Given the description of an element on the screen output the (x, y) to click on. 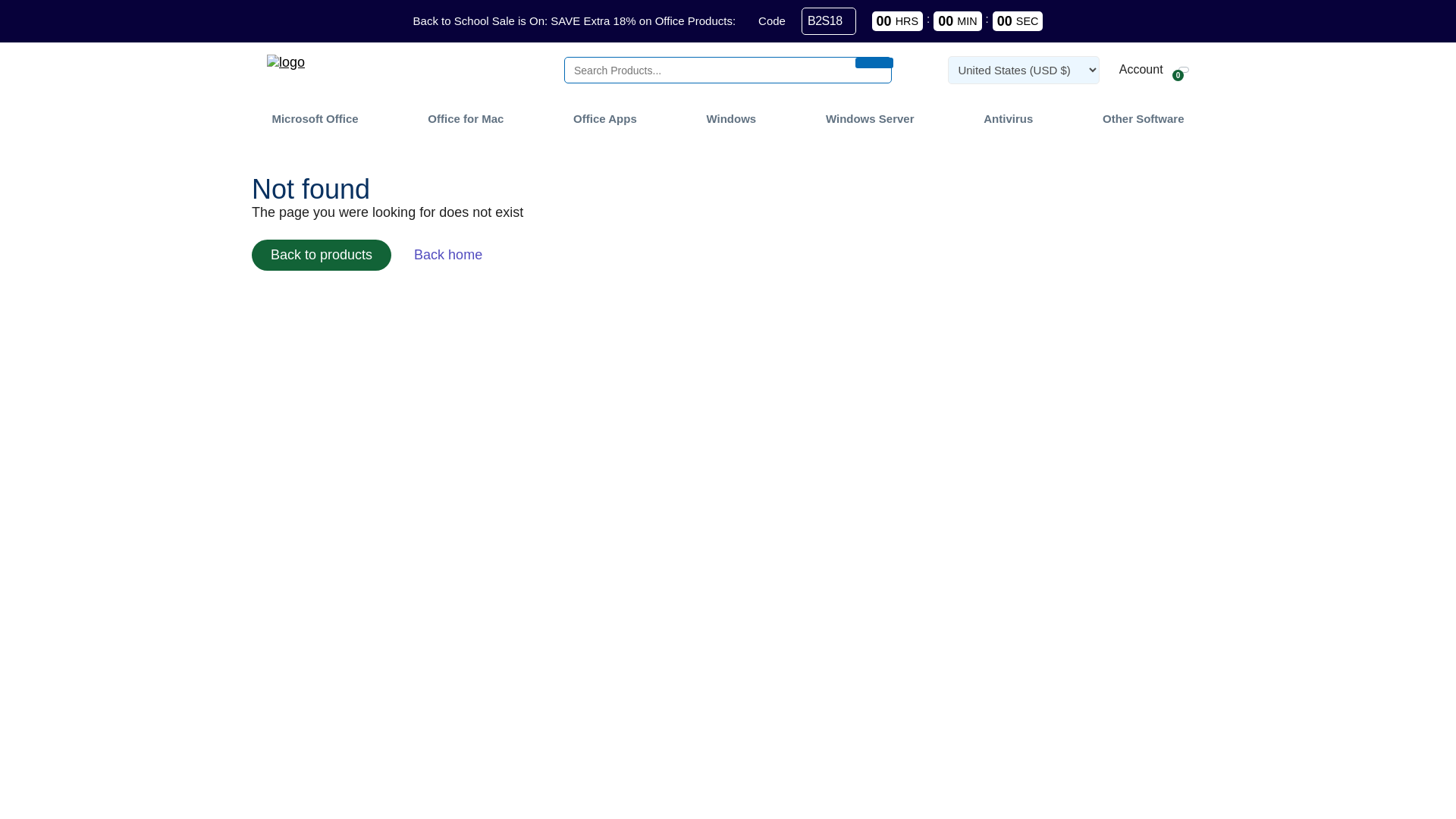
Microsoft Office (314, 118)
Account (1139, 69)
Office for Mac (465, 118)
